Given the description of an element on the screen output the (x, y) to click on. 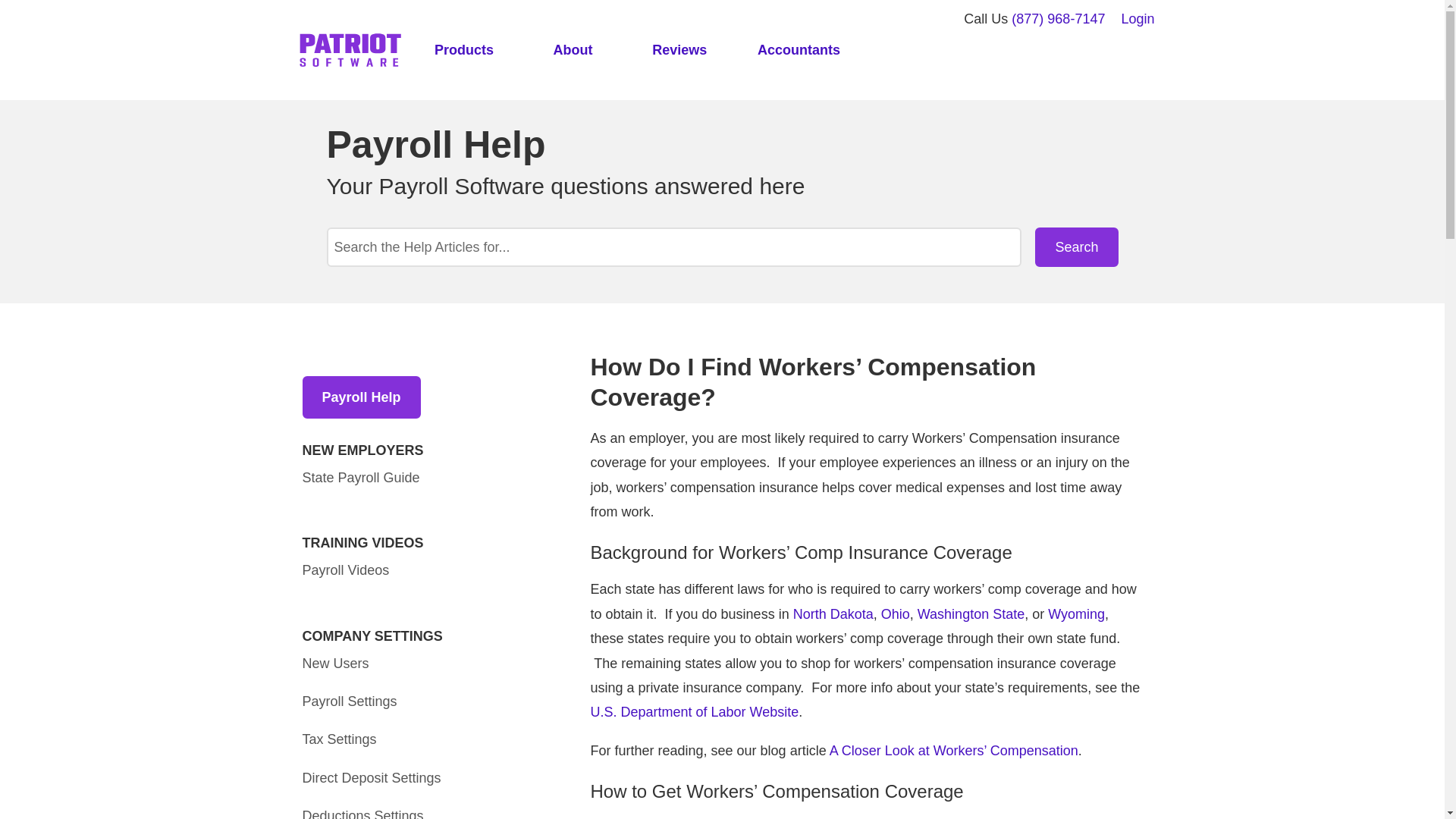
Tax Settings (338, 739)
New Users (334, 663)
Search (1076, 246)
Search for: (673, 246)
Payroll Videos (344, 570)
Products (463, 50)
Search (1076, 246)
Deductions Settings (362, 813)
Payroll Help (360, 396)
About (572, 50)
